Given the description of an element on the screen output the (x, y) to click on. 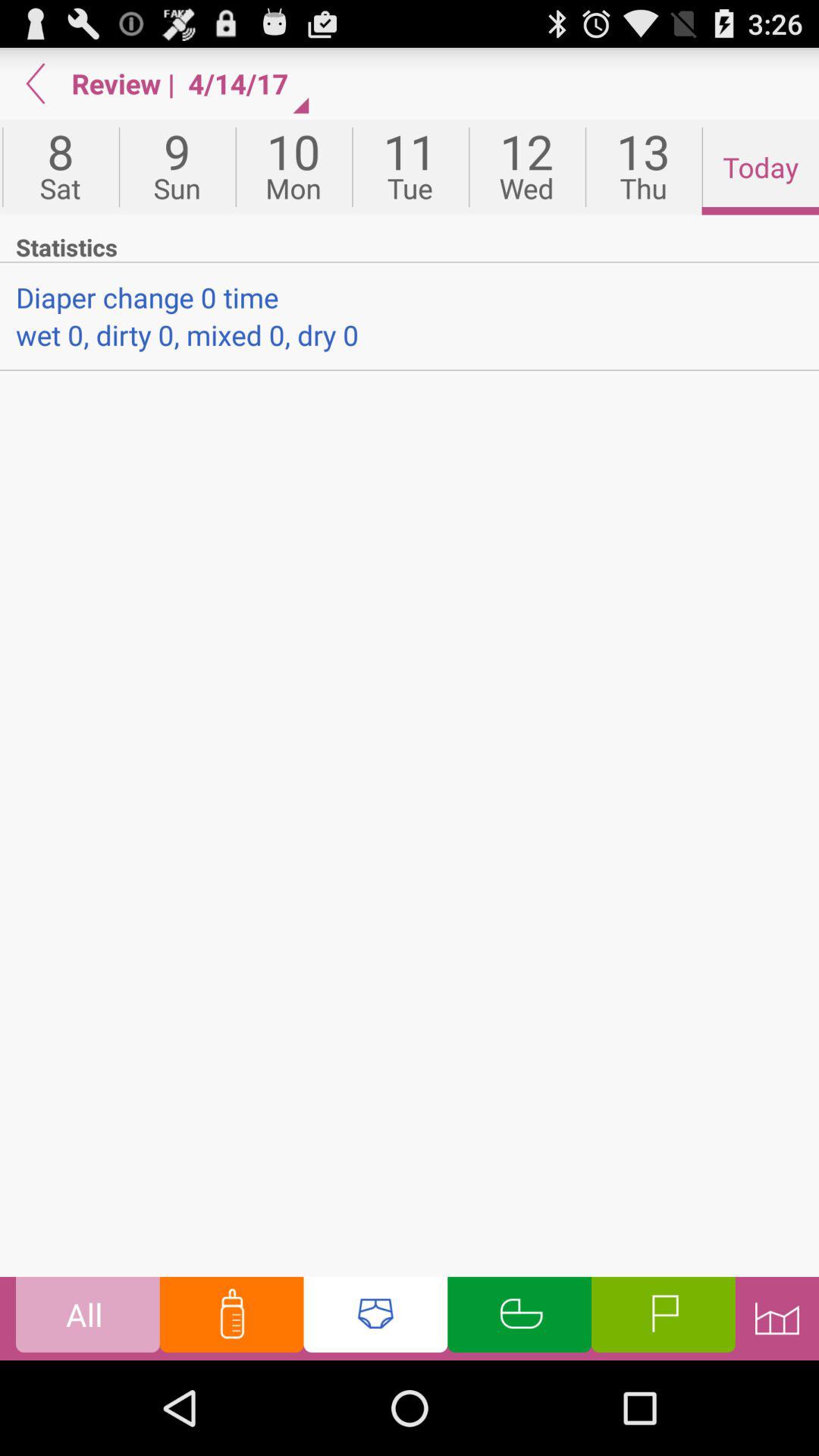
tap item to the left of 11 icon (293, 166)
